Given the description of an element on the screen output the (x, y) to click on. 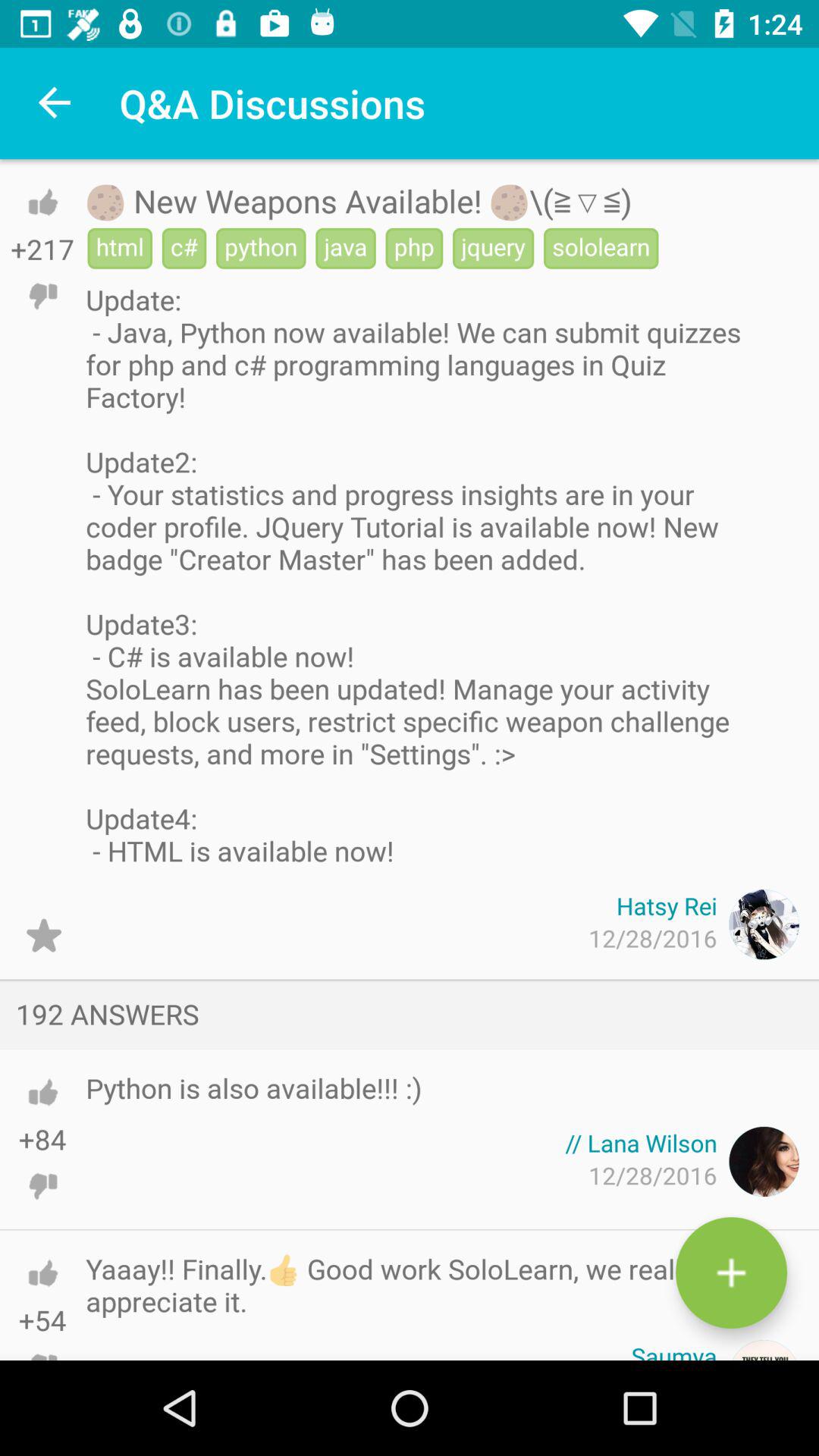
add item (731, 1272)
